Given the description of an element on the screen output the (x, y) to click on. 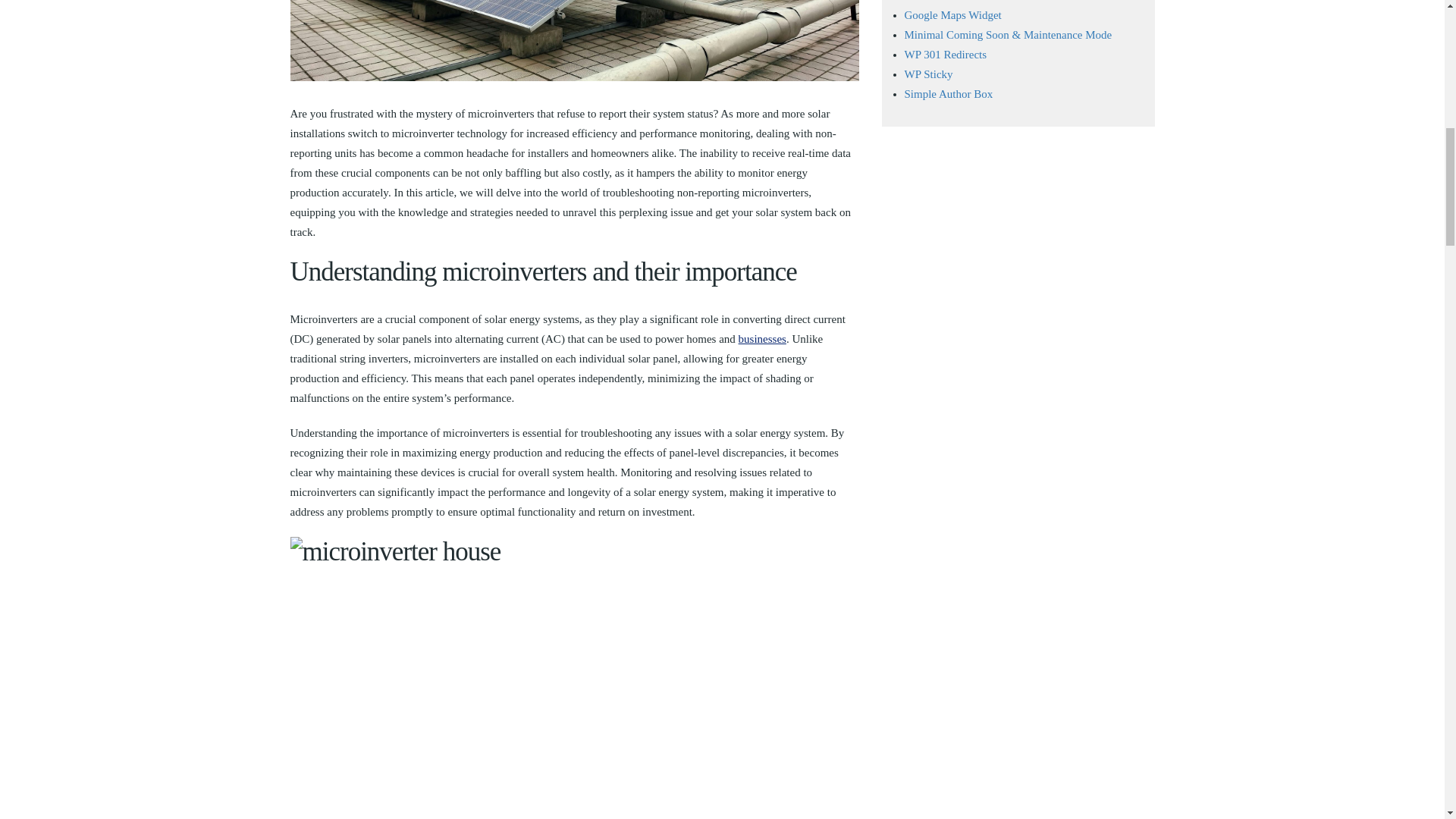
businesses (762, 338)
WP Sticky (928, 73)
Simple Author Box (948, 93)
WP Reset (926, 0)
Google Maps Widget (952, 15)
WP 301 Redirects (945, 54)
